Given the description of an element on the screen output the (x, y) to click on. 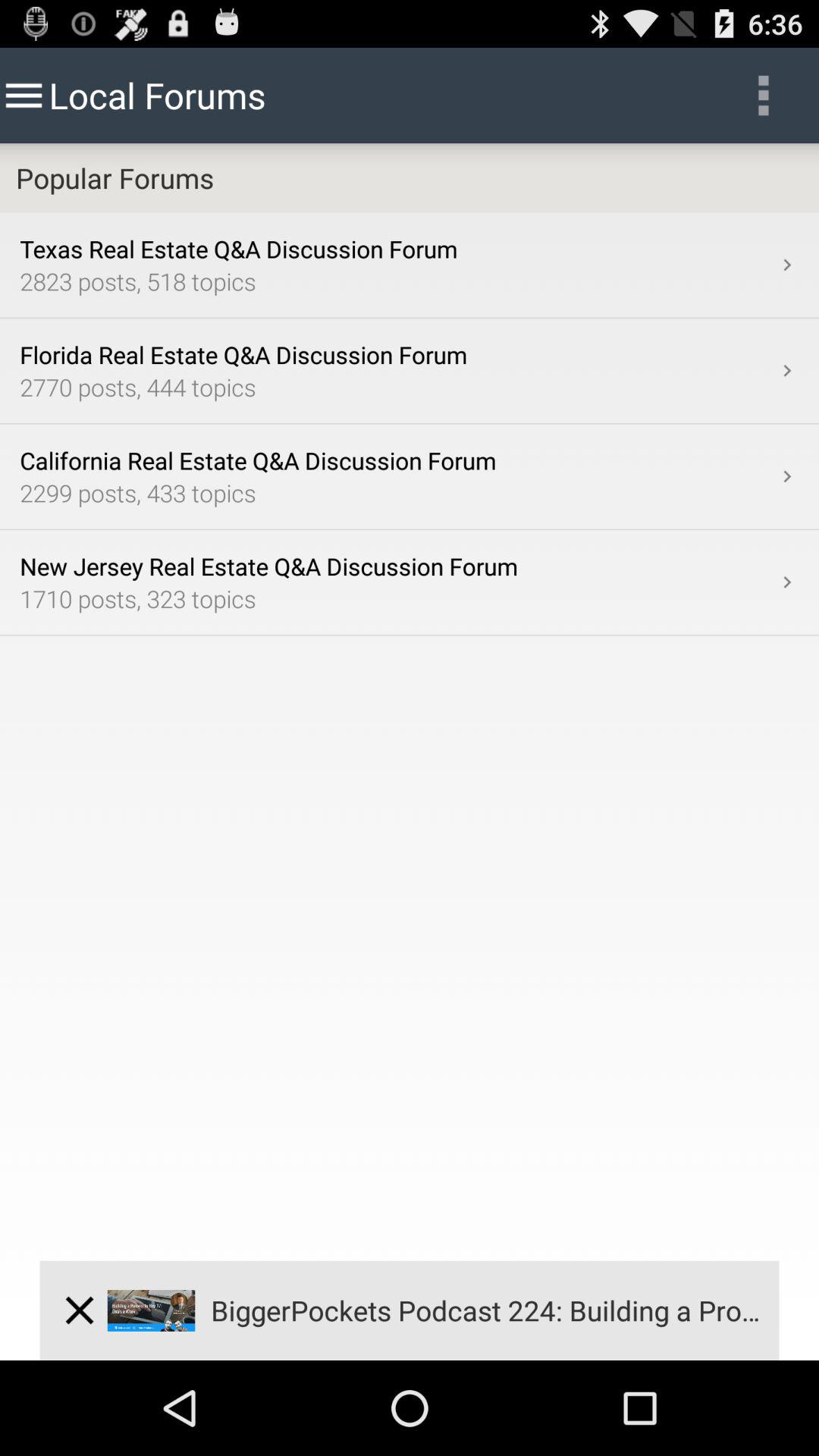
open the app to the right of florida real estate icon (787, 370)
